Given the description of an element on the screen output the (x, y) to click on. 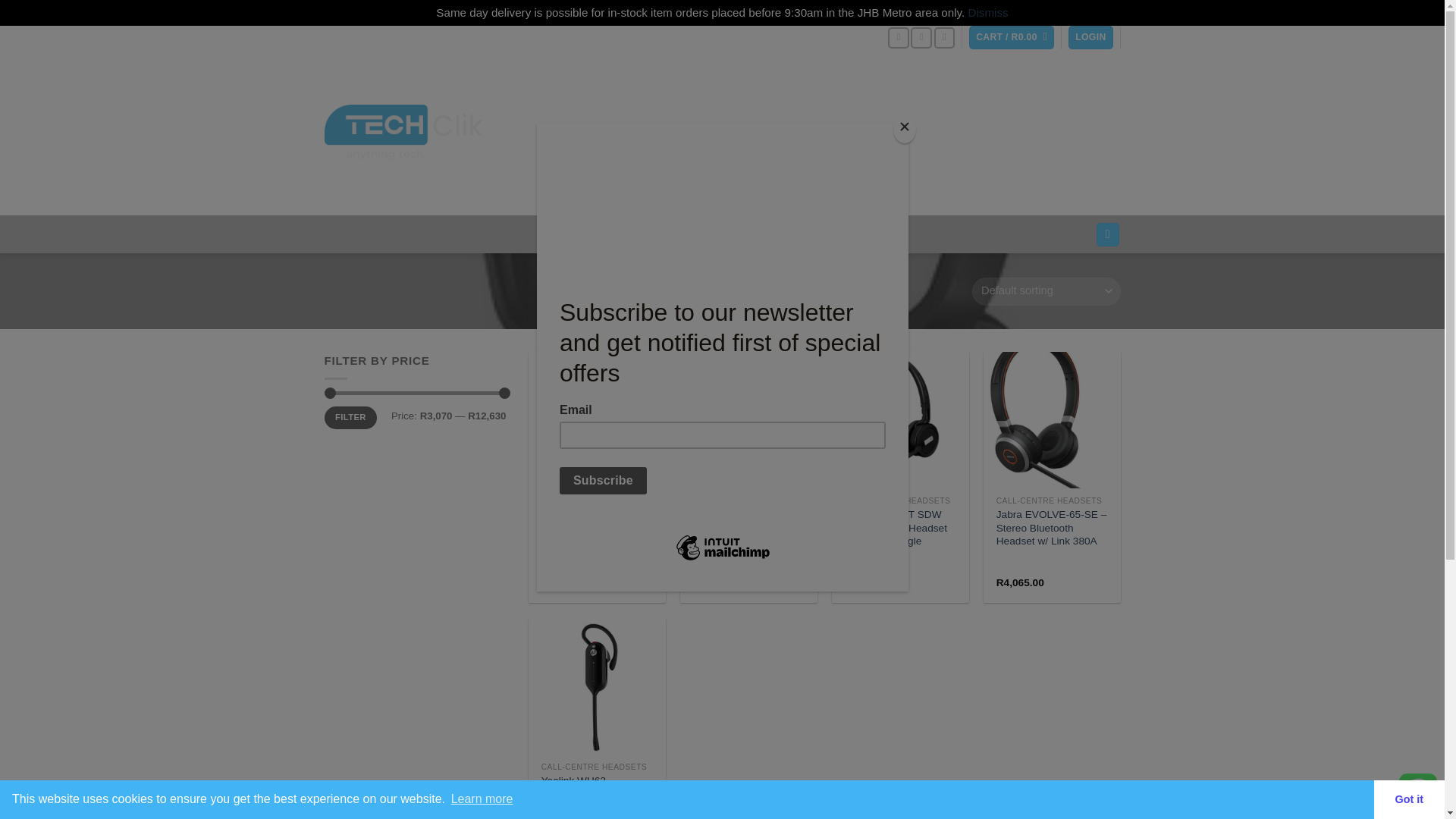
LOGIN (1090, 37)
Cart (1011, 37)
Call us (944, 37)
CONTACT (765, 234)
Dismiss (988, 11)
Anything Tech (402, 132)
Login (1090, 37)
CHECKOUT (661, 234)
HOME (640, 306)
FILTER (350, 417)
Follow on Facebook (898, 37)
Send us an email (921, 37)
